Given the description of an element on the screen output the (x, y) to click on. 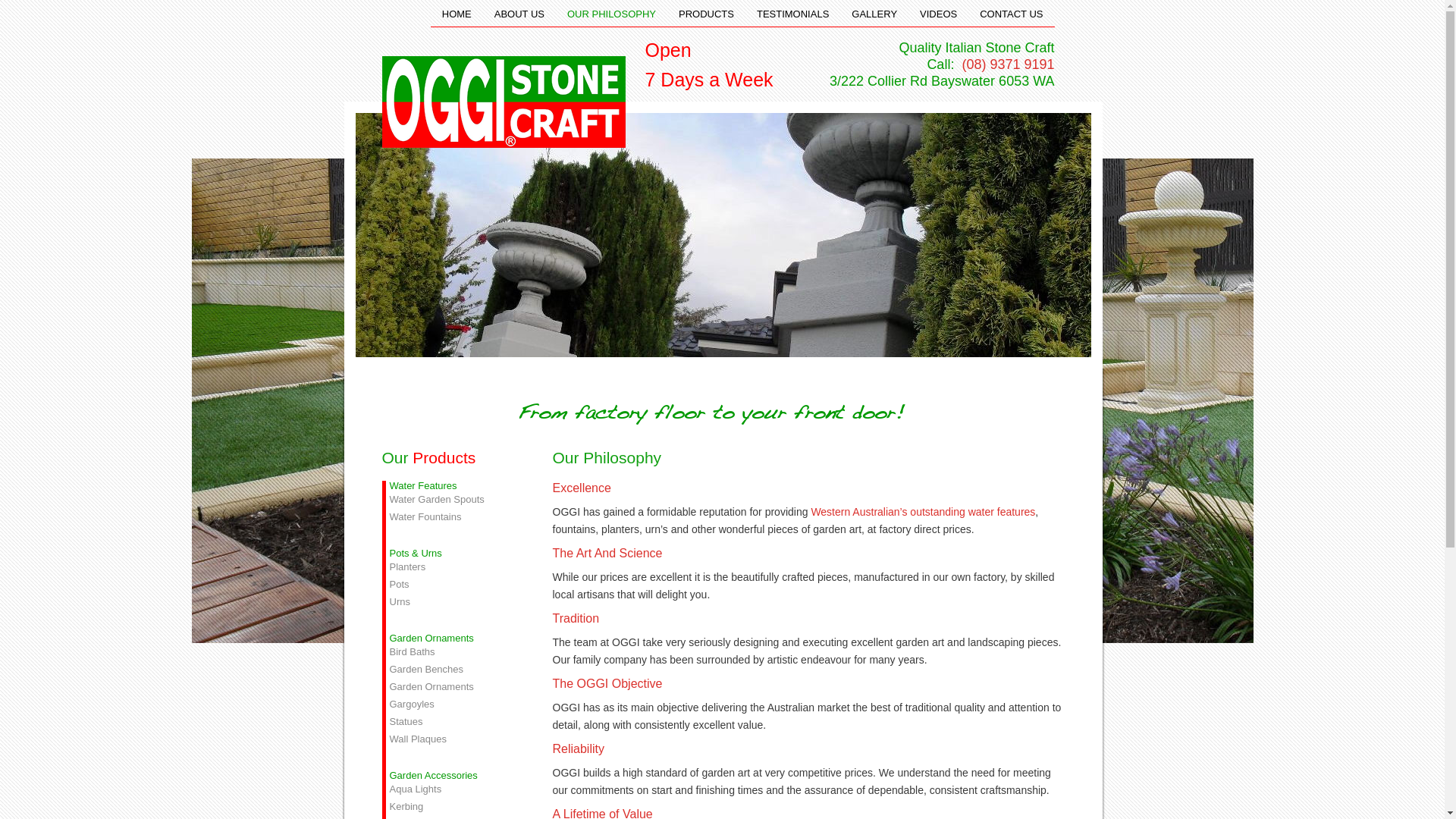
Garden Ornaments and Statues in Perth Element type: hover (503, 101)
Water Fountains Element type: text (452, 516)
(08) 9371 9191 Element type: text (1005, 64)
Statues Element type: text (452, 721)
TESTIMONIALS Element type: text (792, 13)
ABOUT US Element type: text (519, 13)
Garden Benches Element type: text (452, 668)
Water Garden Spouts Element type: text (452, 499)
Aqua Lights Element type: text (452, 788)
Garden Ornaments Element type: text (452, 686)
Wall Plaques Element type: text (452, 738)
Kerbing Element type: text (452, 806)
CONTACT US Element type: text (1011, 13)
Planters Element type: text (452, 566)
GALLERY Element type: text (874, 13)
Bird Baths Element type: text (452, 651)
HOME Element type: text (456, 13)
PRODUCTS Element type: text (706, 13)
OUR PHILOSOPHY Element type: text (611, 13)
Gargoyles Element type: text (452, 703)
Pots Element type: text (452, 584)
VIDEOS Element type: text (938, 13)
Urns Element type: text (452, 601)
